Given the description of an element on the screen output the (x, y) to click on. 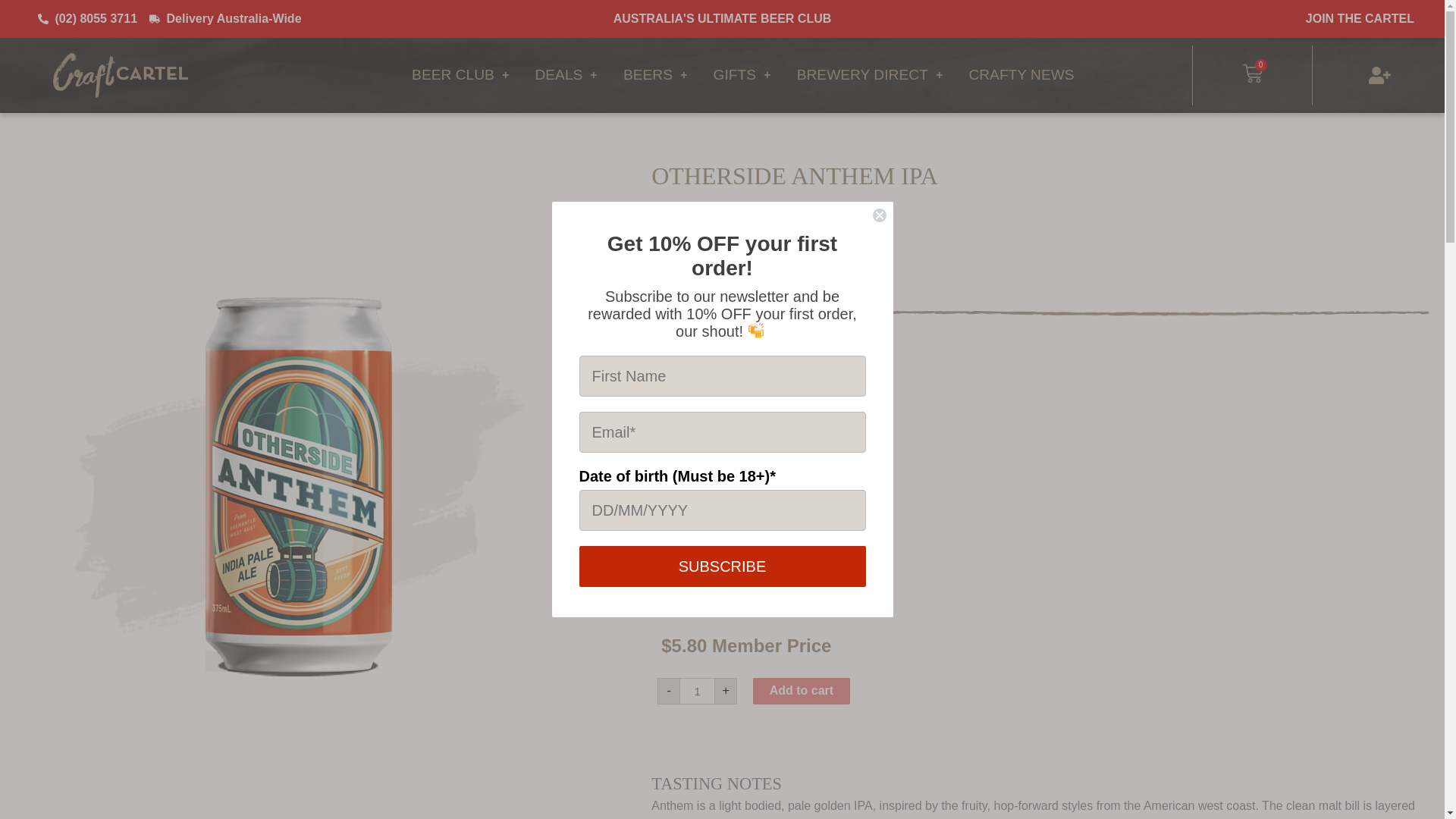
JOIN THE CARTEL (1359, 18)
Qty (696, 691)
DEALS (565, 74)
BEERS (655, 74)
1 (696, 691)
GIFTS (742, 74)
CRAFTY NEWS (1020, 74)
BEER CLUB (459, 74)
BREWERY DIRECT (870, 74)
